Given the description of an element on the screen output the (x, y) to click on. 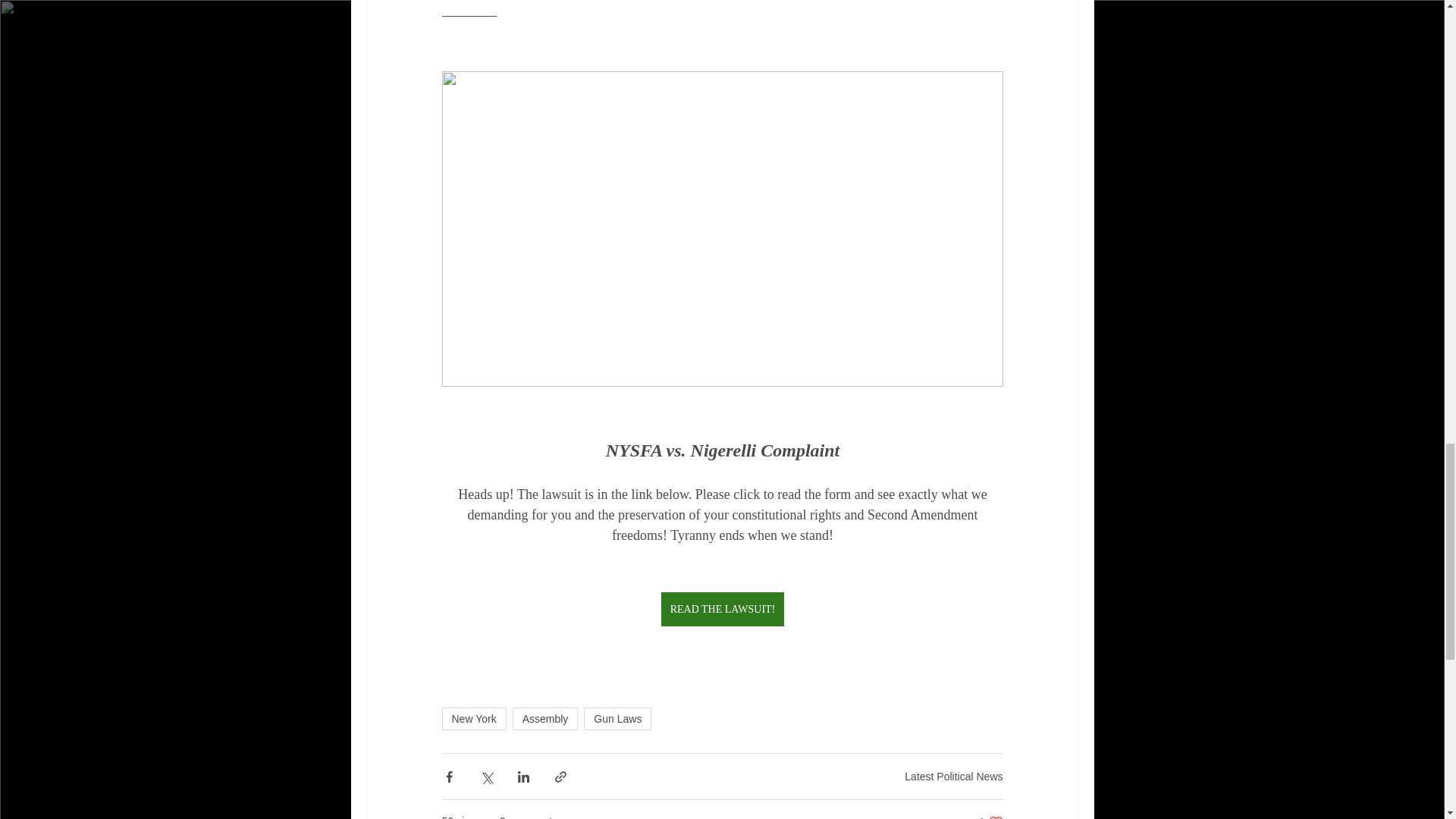
Gun Laws (616, 718)
READ THE LAWSUIT! (722, 609)
Assembly (990, 816)
New York (545, 718)
Latest Political News (473, 718)
